Given the description of an element on the screen output the (x, y) to click on. 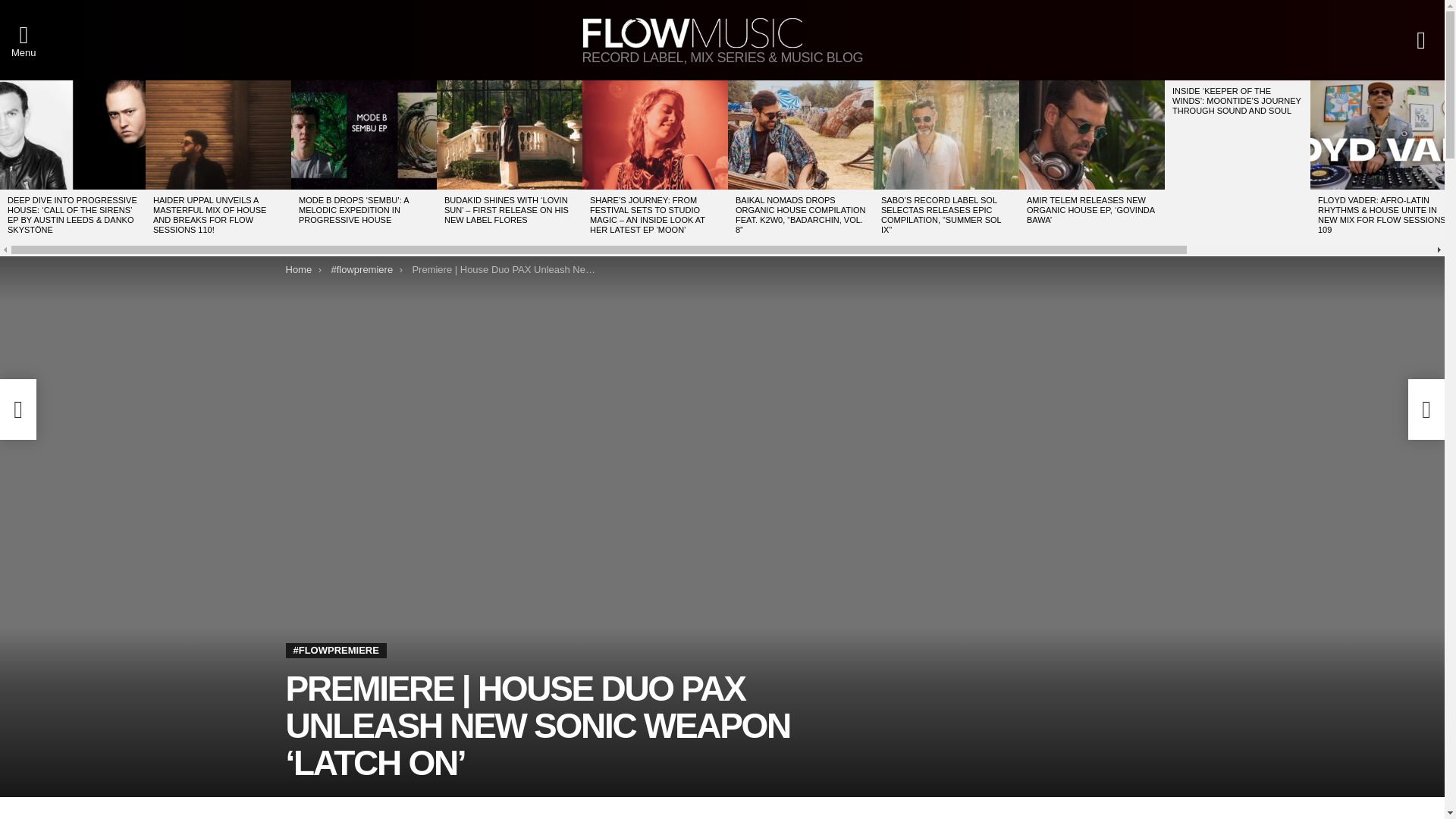
Home (298, 269)
